Given the description of an element on the screen output the (x, y) to click on. 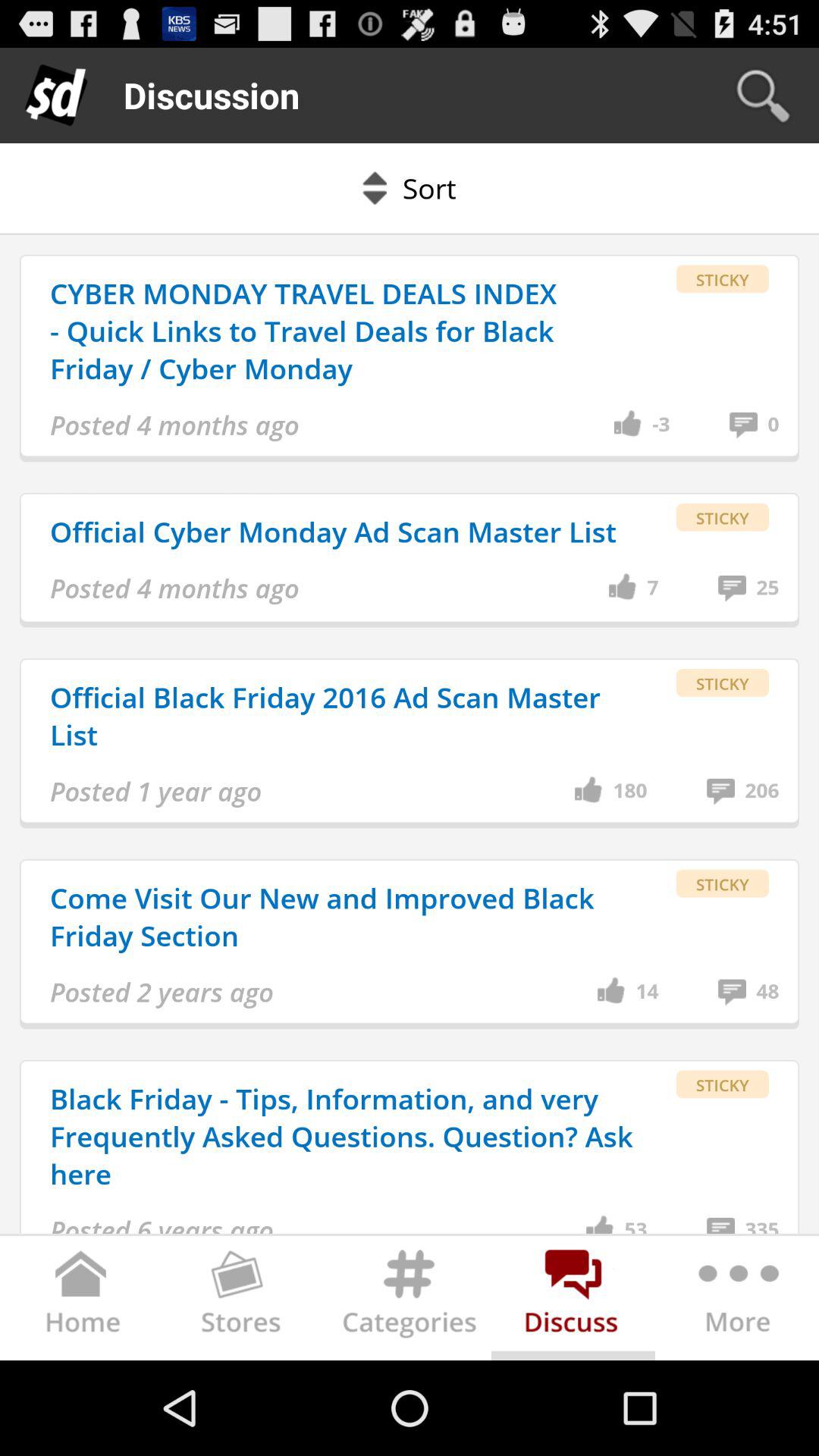
press item below official black friday app (155, 791)
